Given the description of an element on the screen output the (x, y) to click on. 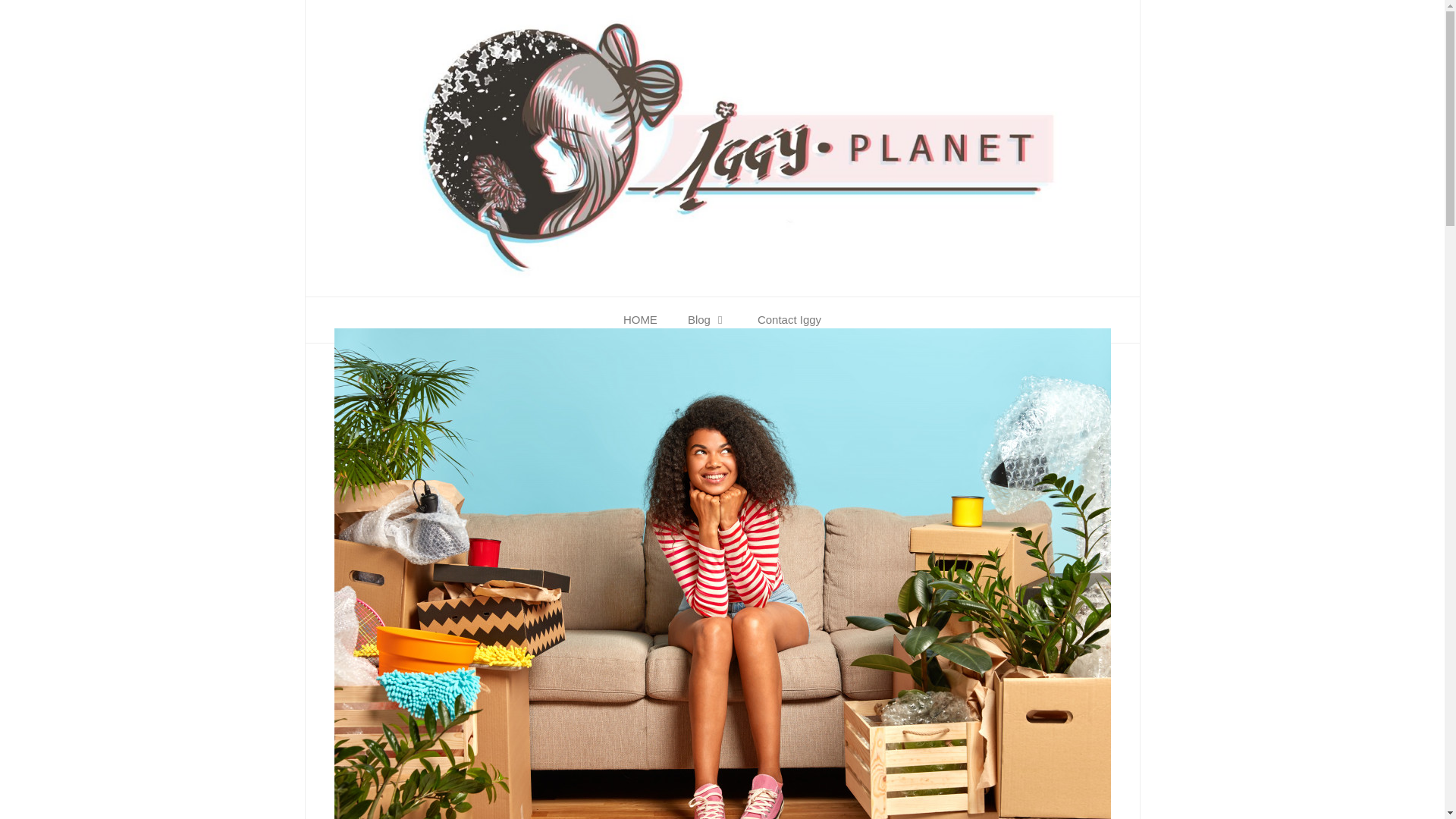
HOME (640, 320)
Blog (707, 320)
Contact Iggy (788, 320)
